Given the description of an element on the screen output the (x, y) to click on. 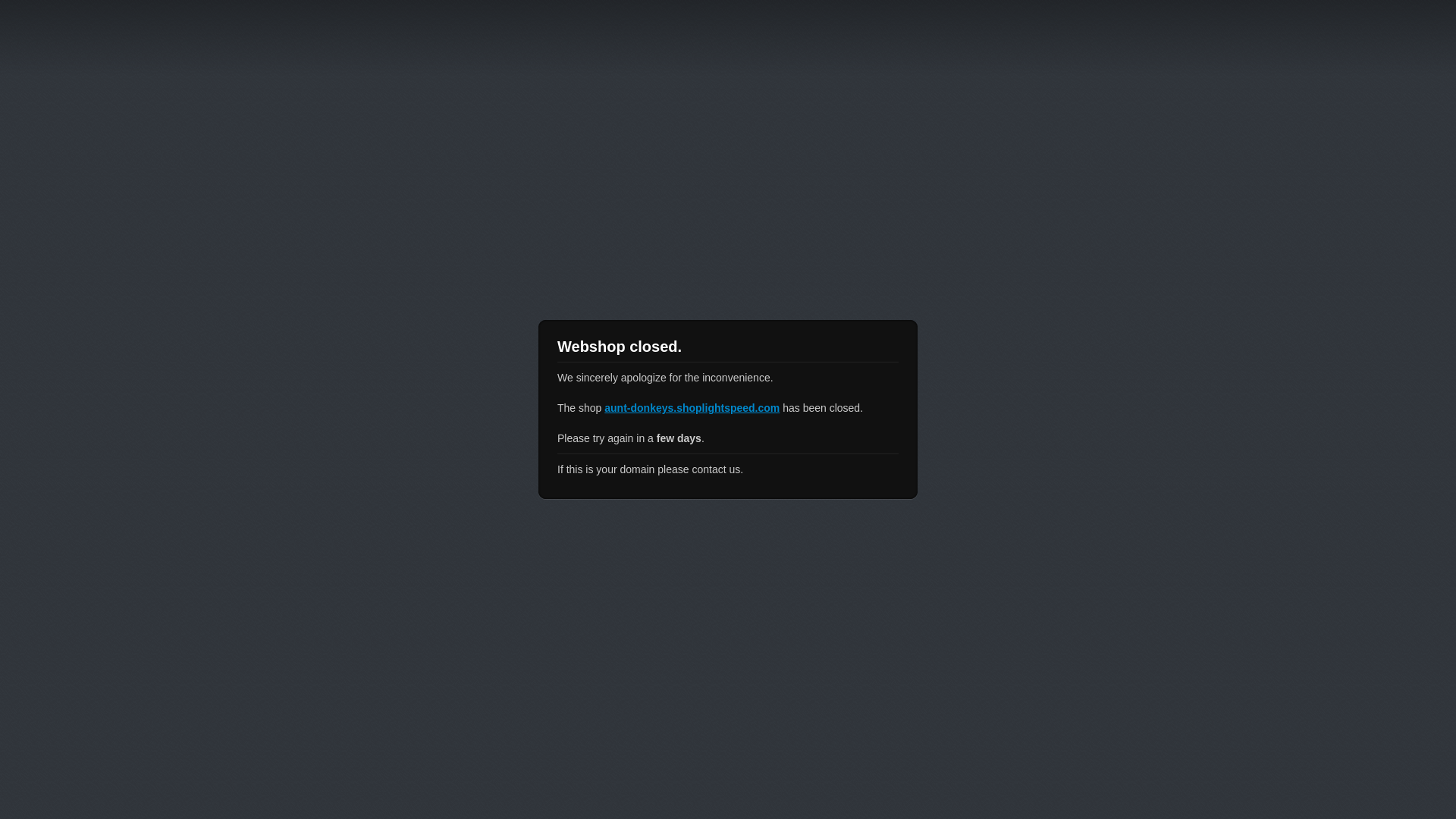
aunt-donkeys.shoplightspeed.com Element type: text (691, 407)
